Given the description of an element on the screen output the (x, y) to click on. 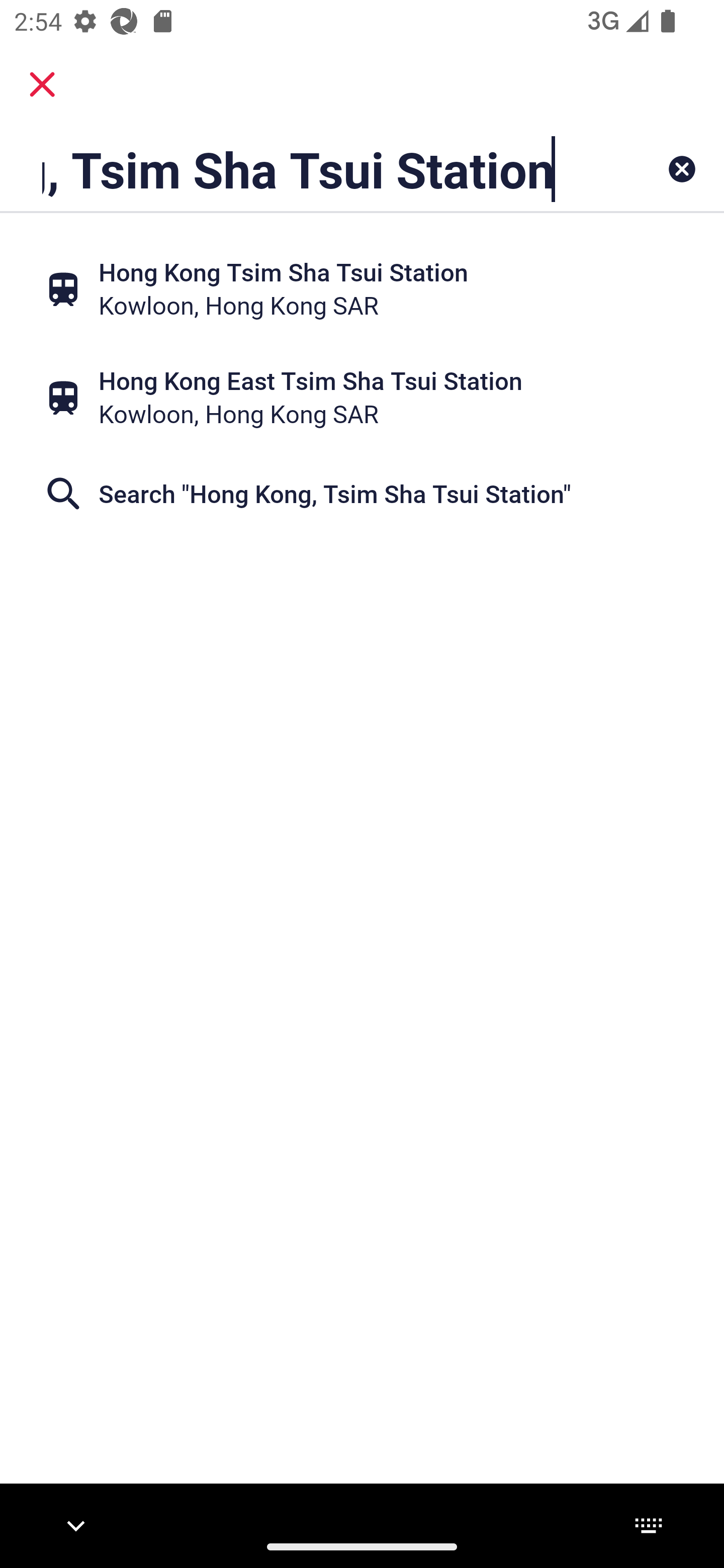
close. (42, 84)
Clear (681, 169)
Hong Kong, Tsim Sha Tsui Station (298, 169)
Search "Hong Kong, Tsim Sha Tsui Station" (362, 493)
